Given the description of an element on the screen output the (x, y) to click on. 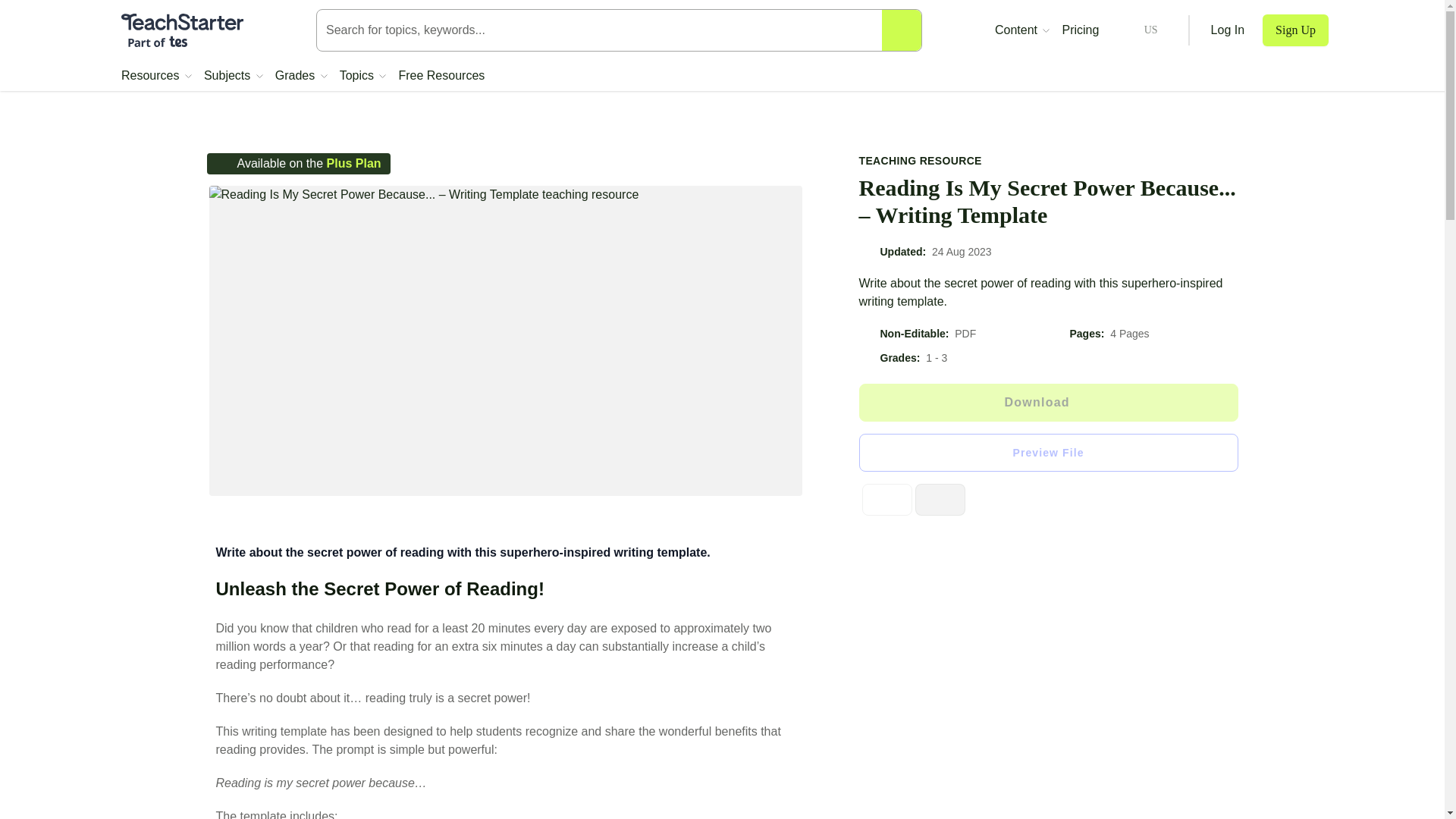
Teach Starter, part of Tes (181, 29)
Back to homepage (181, 29)
Resources  (156, 75)
US (1138, 30)
Change location (1138, 30)
Resources (156, 75)
Pricing (1080, 30)
Grades  (301, 75)
Content  (1021, 30)
Log In (1227, 30)
